Given the description of an element on the screen output the (x, y) to click on. 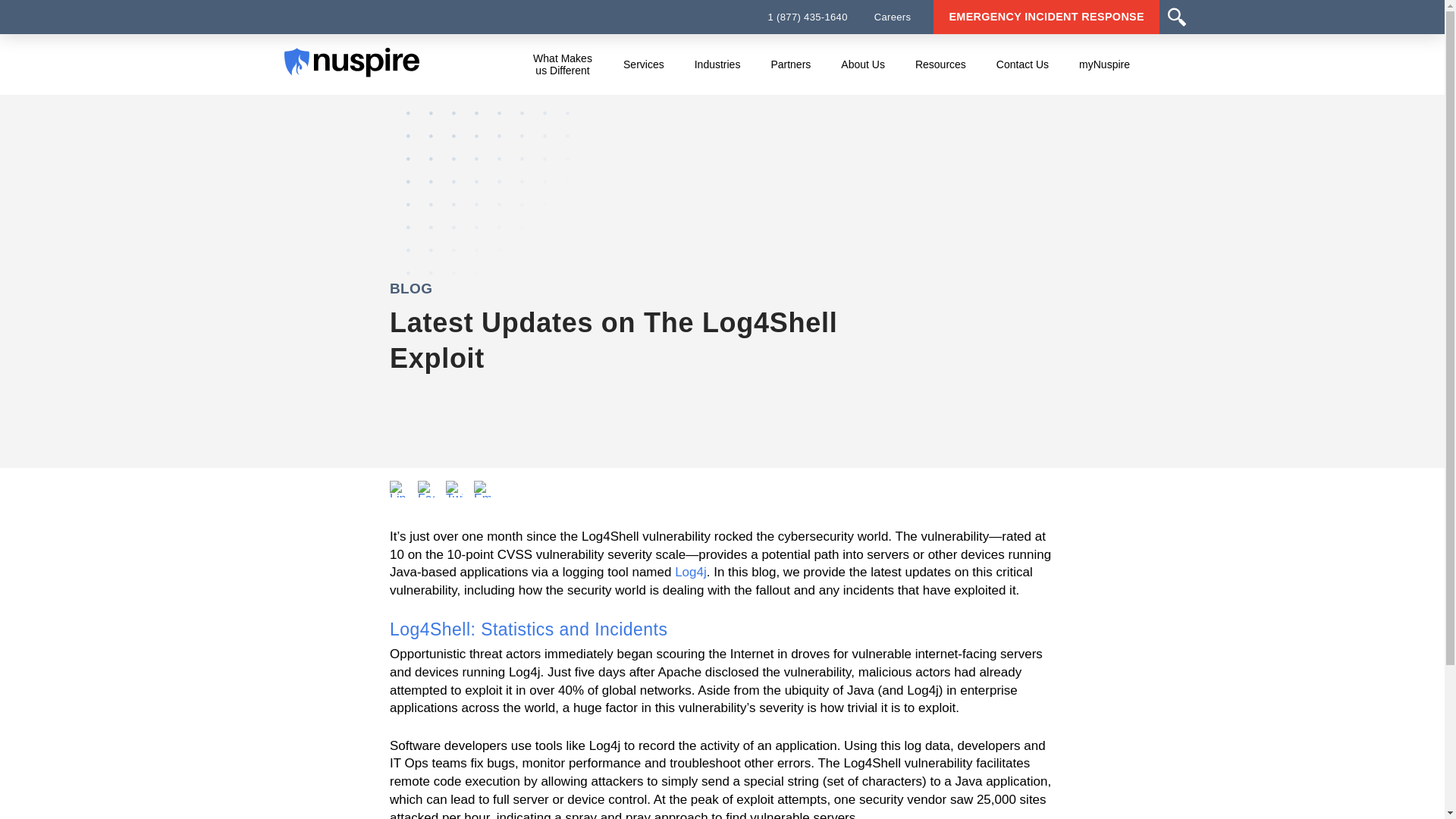
Email (482, 488)
LinkedIn (398, 488)
Twitter (454, 488)
Facebook (425, 488)
What Makes us Different (562, 64)
EMERGENCY INCIDENT RESPONSE (1045, 17)
Careers (892, 17)
